Given the description of an element on the screen output the (x, y) to click on. 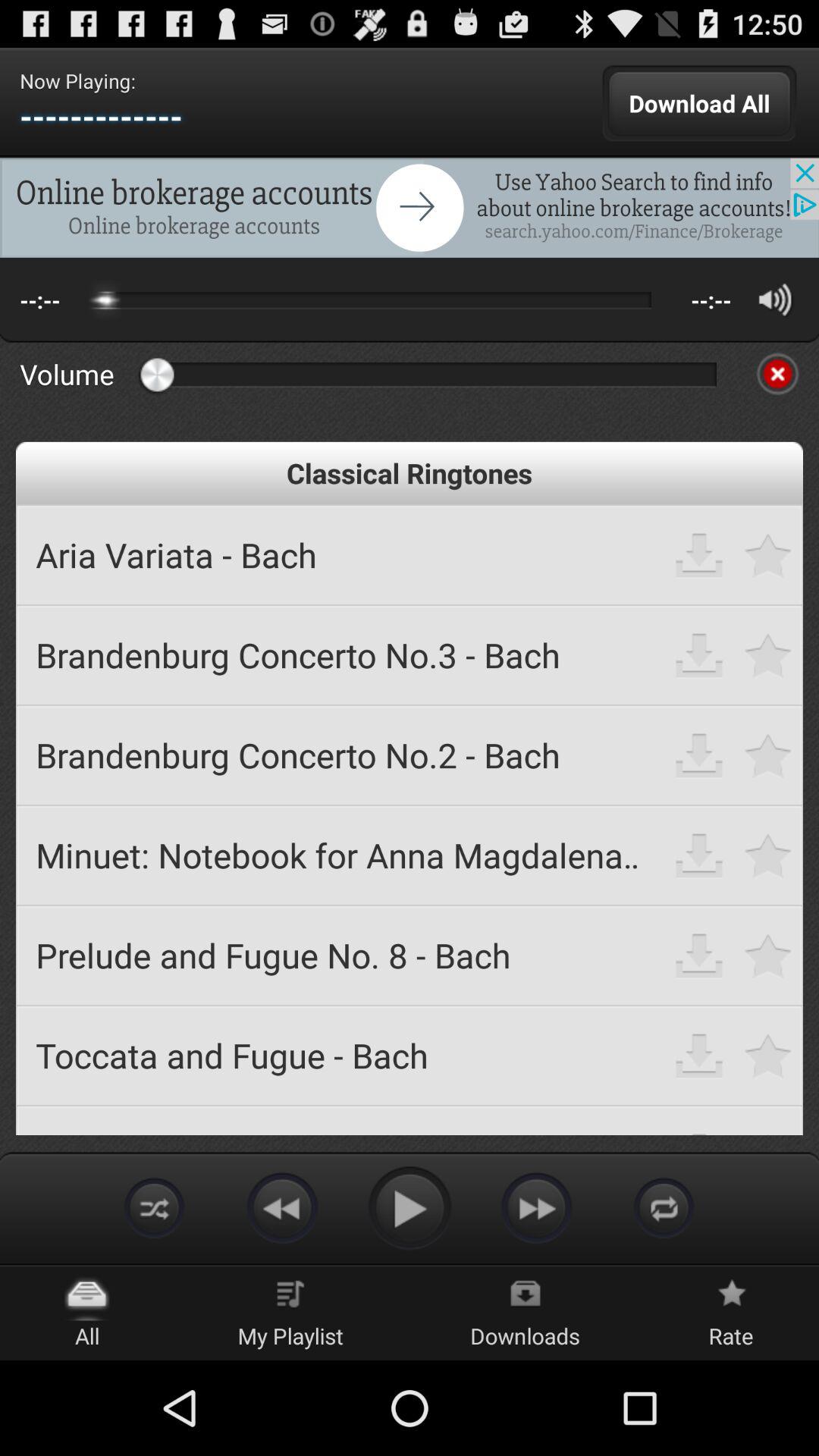
download file (699, 654)
